Given the description of an element on the screen output the (x, y) to click on. 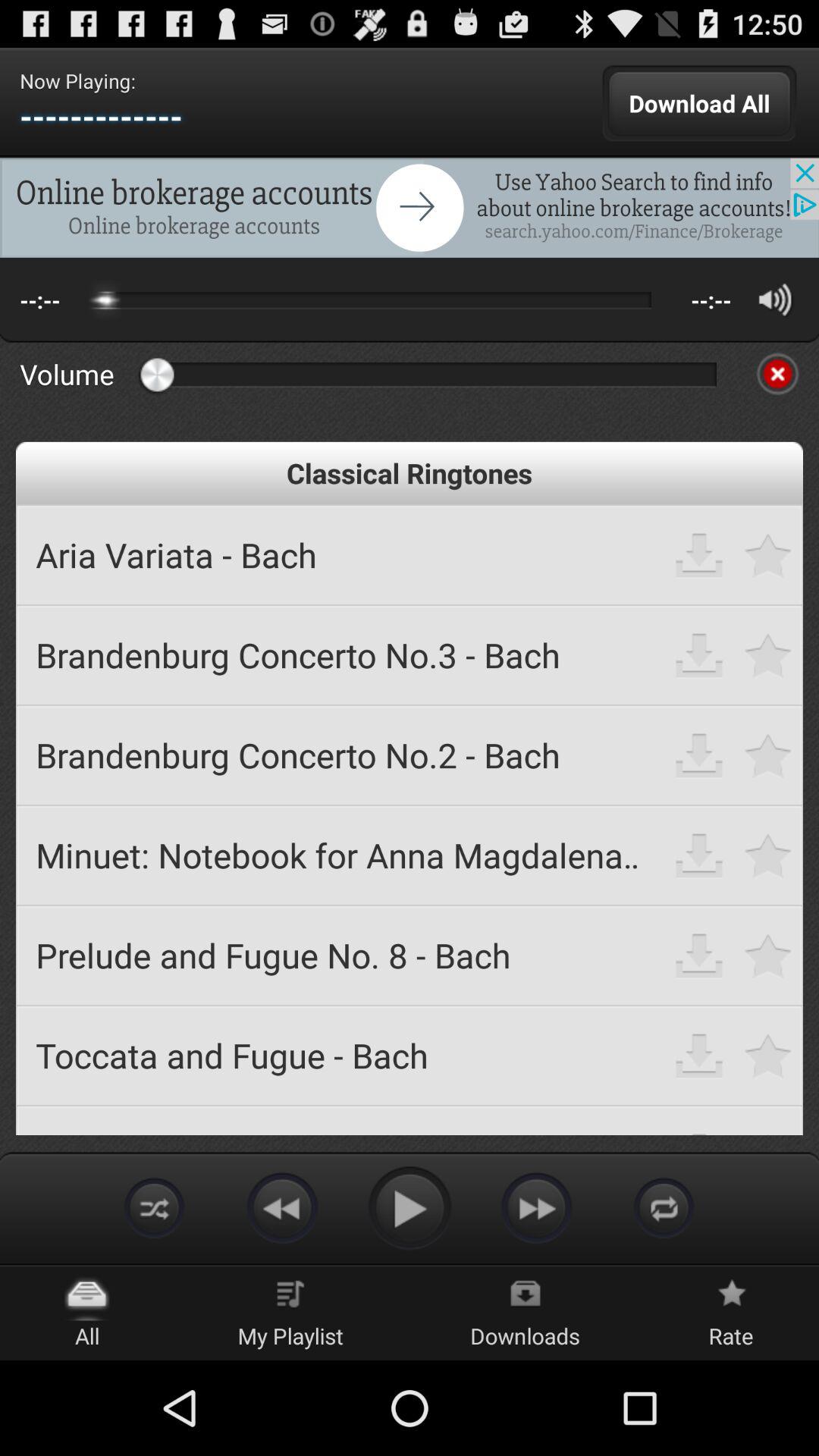
download file (699, 654)
